Given the description of an element on the screen output the (x, y) to click on. 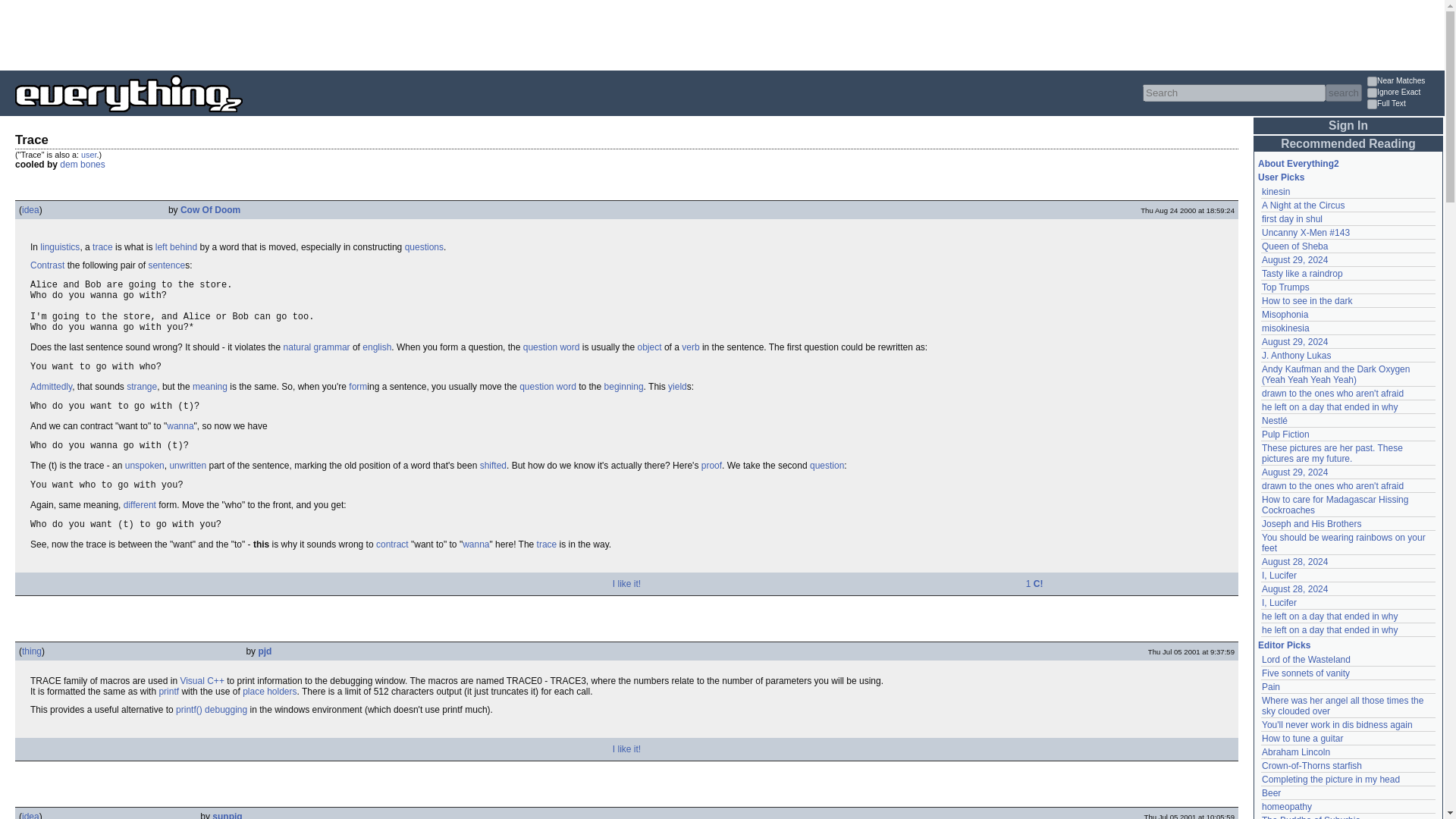
Search within Everything2 (1342, 92)
wanna (476, 543)
grammar (332, 347)
idea (30, 209)
left behind (175, 246)
Contrast (47, 265)
wanna (180, 425)
sentence (166, 265)
search (1342, 92)
object (649, 347)
